Given the description of an element on the screen output the (x, y) to click on. 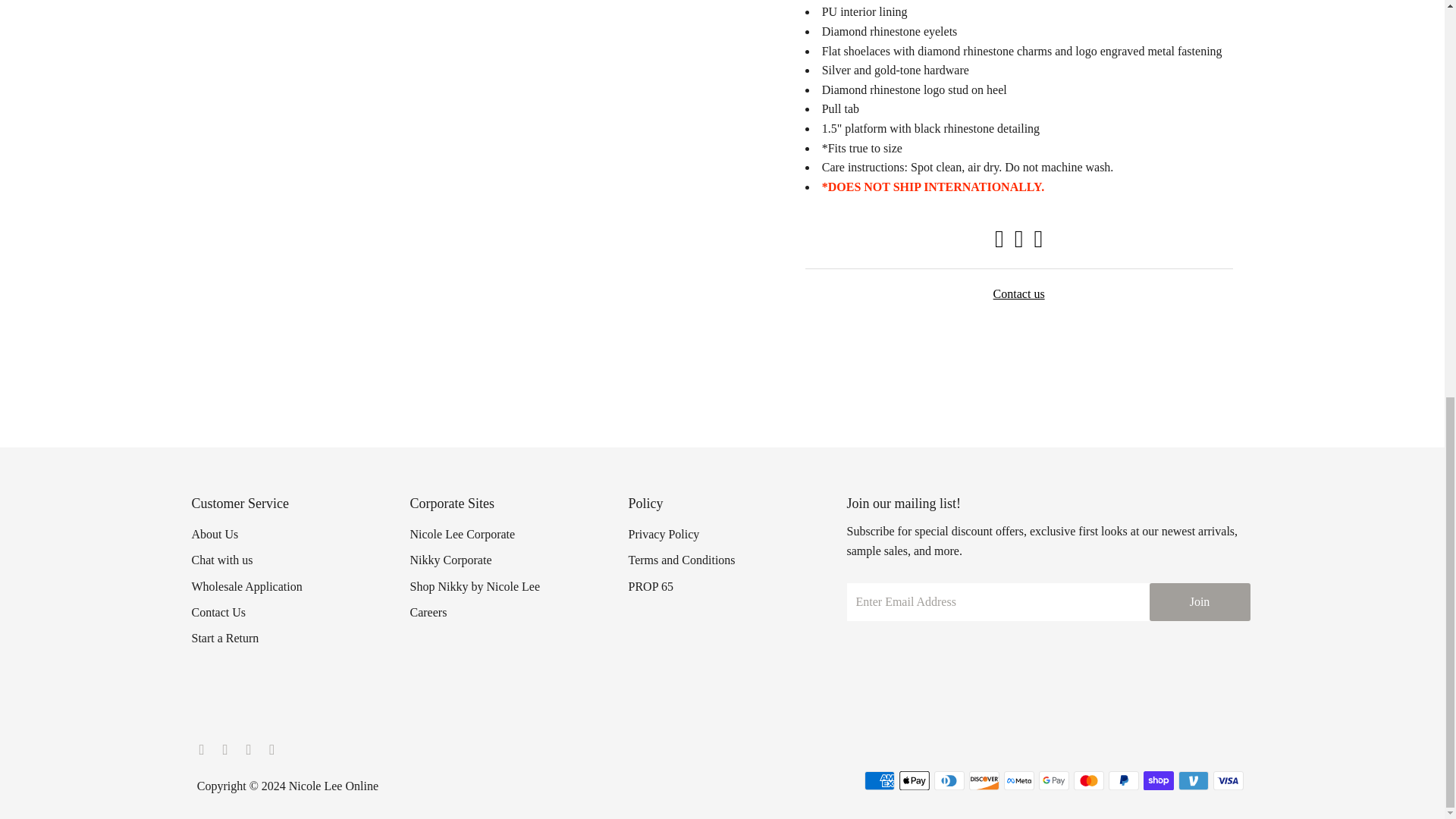
Share on Facebook (999, 242)
PayPal (1123, 780)
Visa (1227, 780)
Mastercard (1088, 780)
Apple Pay (914, 780)
Meta Pay (1018, 780)
Share on Twitter (1018, 242)
Google Pay (1053, 780)
Diners Club (948, 780)
Discover (983, 780)
Shop Pay (1157, 780)
Join (1200, 601)
Venmo (1192, 780)
Share on Pinterest (1037, 242)
American Express (879, 780)
